Given the description of an element on the screen output the (x, y) to click on. 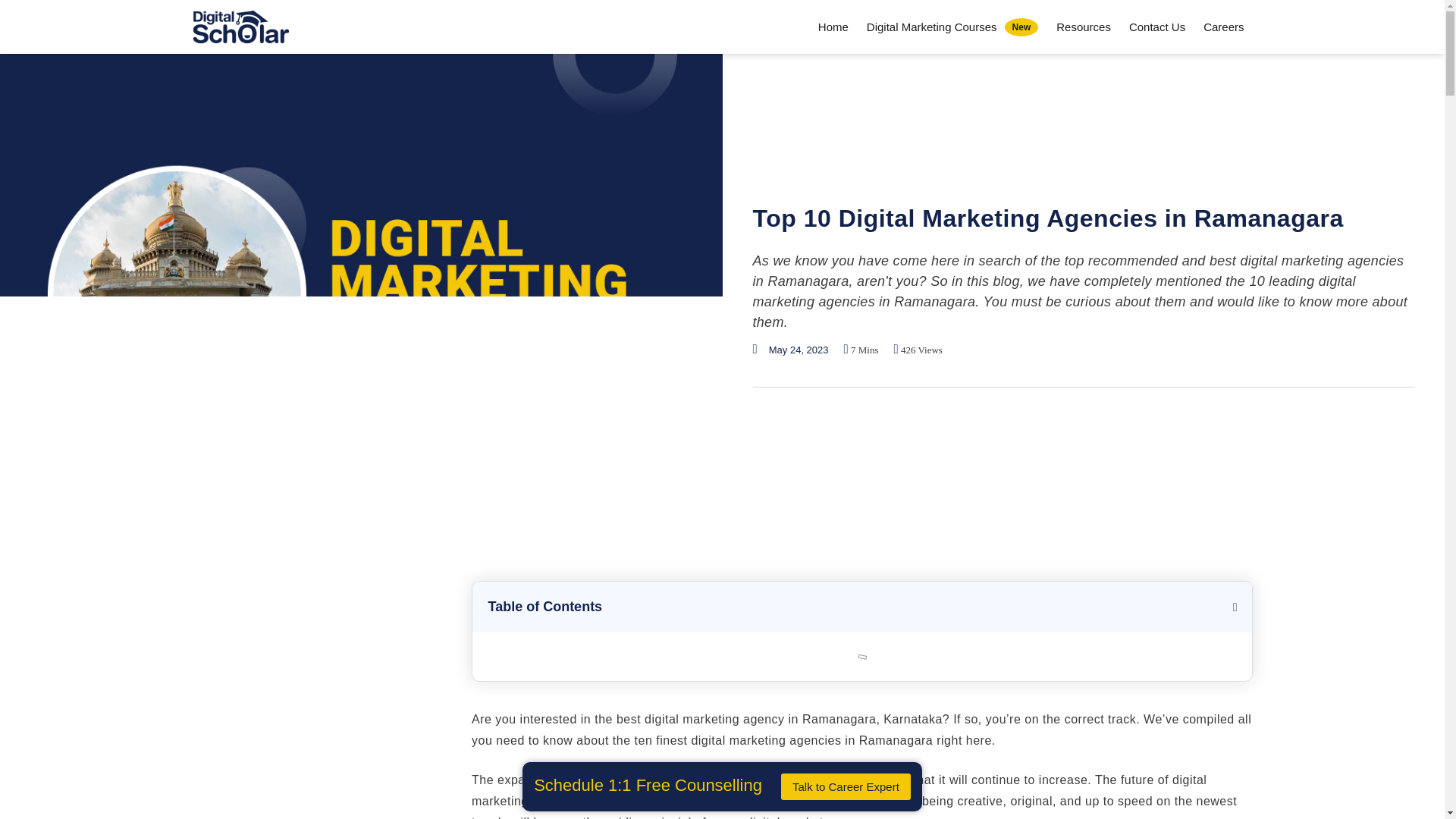
Resources (1082, 26)
Home (833, 26)
Contact Us (951, 26)
Careers (1156, 26)
